Given the description of an element on the screen output the (x, y) to click on. 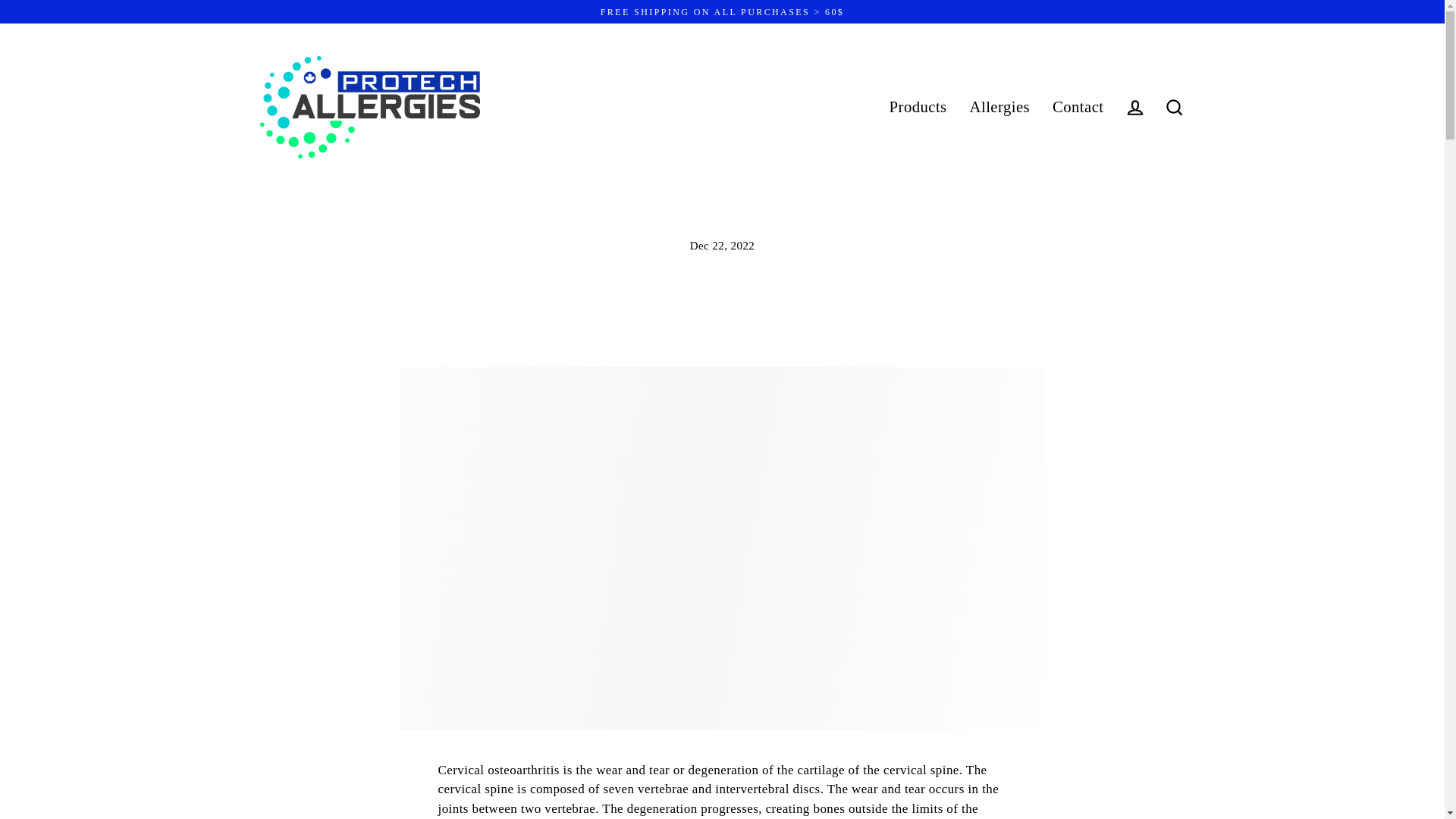
Products (917, 107)
